Given the description of an element on the screen output the (x, y) to click on. 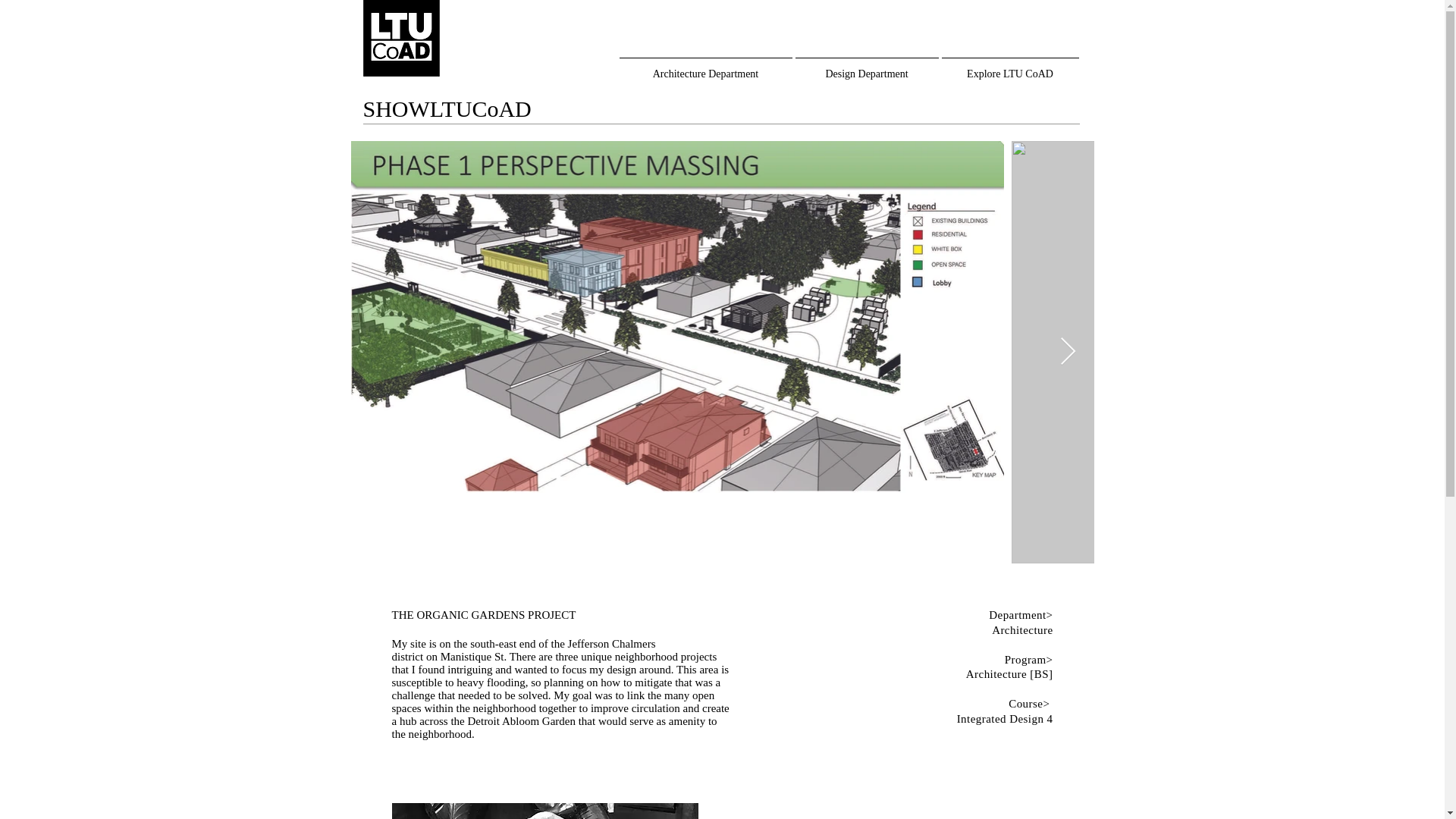
Explore LTU CoAD (1010, 66)
Architecture Department (705, 66)
Design Department (866, 66)
SHOWLTUCoAD (446, 108)
